Given the description of an element on the screen output the (x, y) to click on. 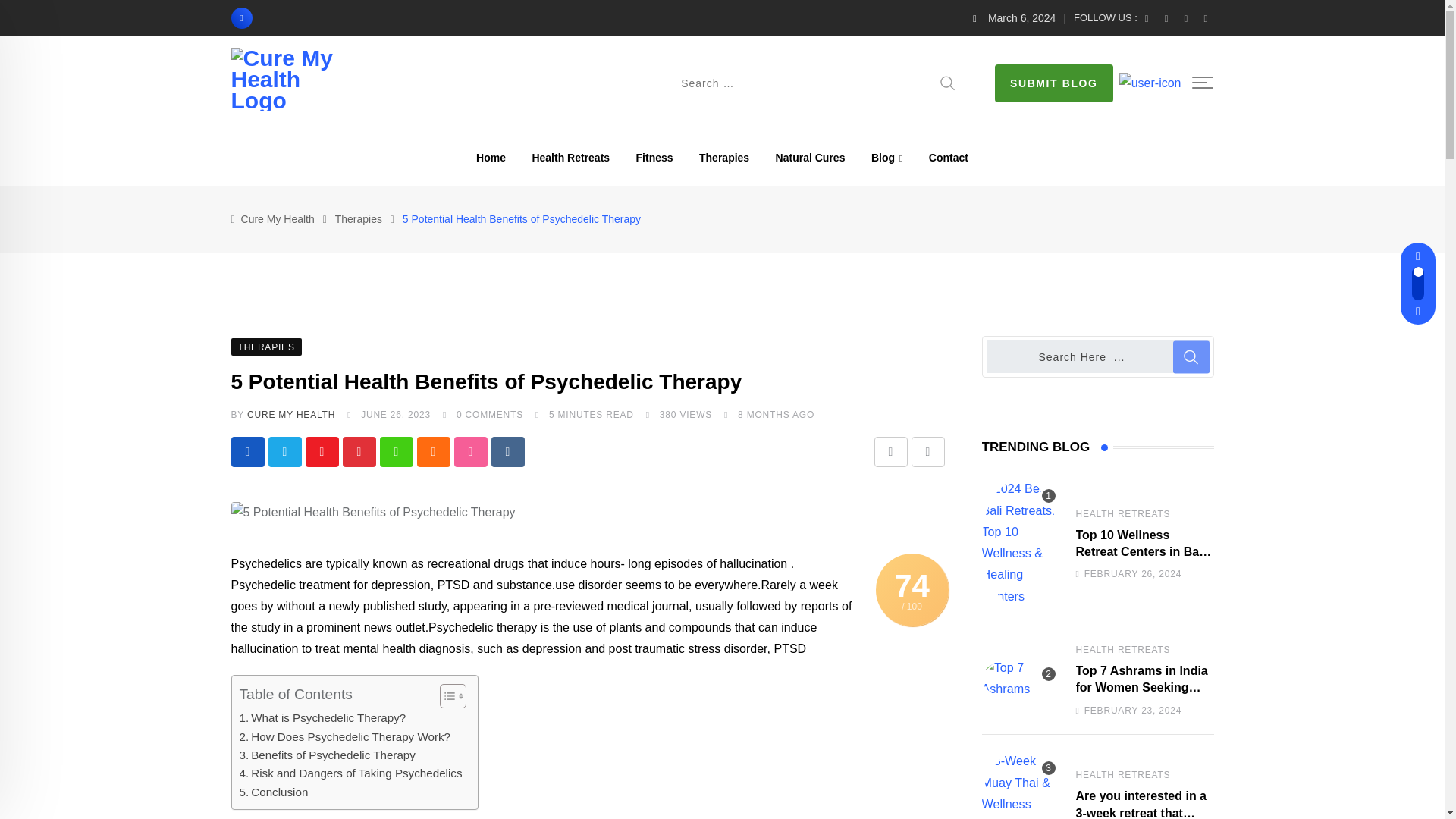
Go to Cure My Health. (277, 218)
Health Retreats (570, 157)
5 Potential Health Benefits of Psychedelic Therapy 1 (372, 512)
SUBMIT BLOG (1053, 83)
Conclusion (274, 791)
Therapies (723, 157)
Benefits of Psychedelic Therapy (327, 755)
Posts by Cure My Health (290, 414)
Go to the Therapies category archives. (357, 218)
Blog (887, 157)
